Given the description of an element on the screen output the (x, y) to click on. 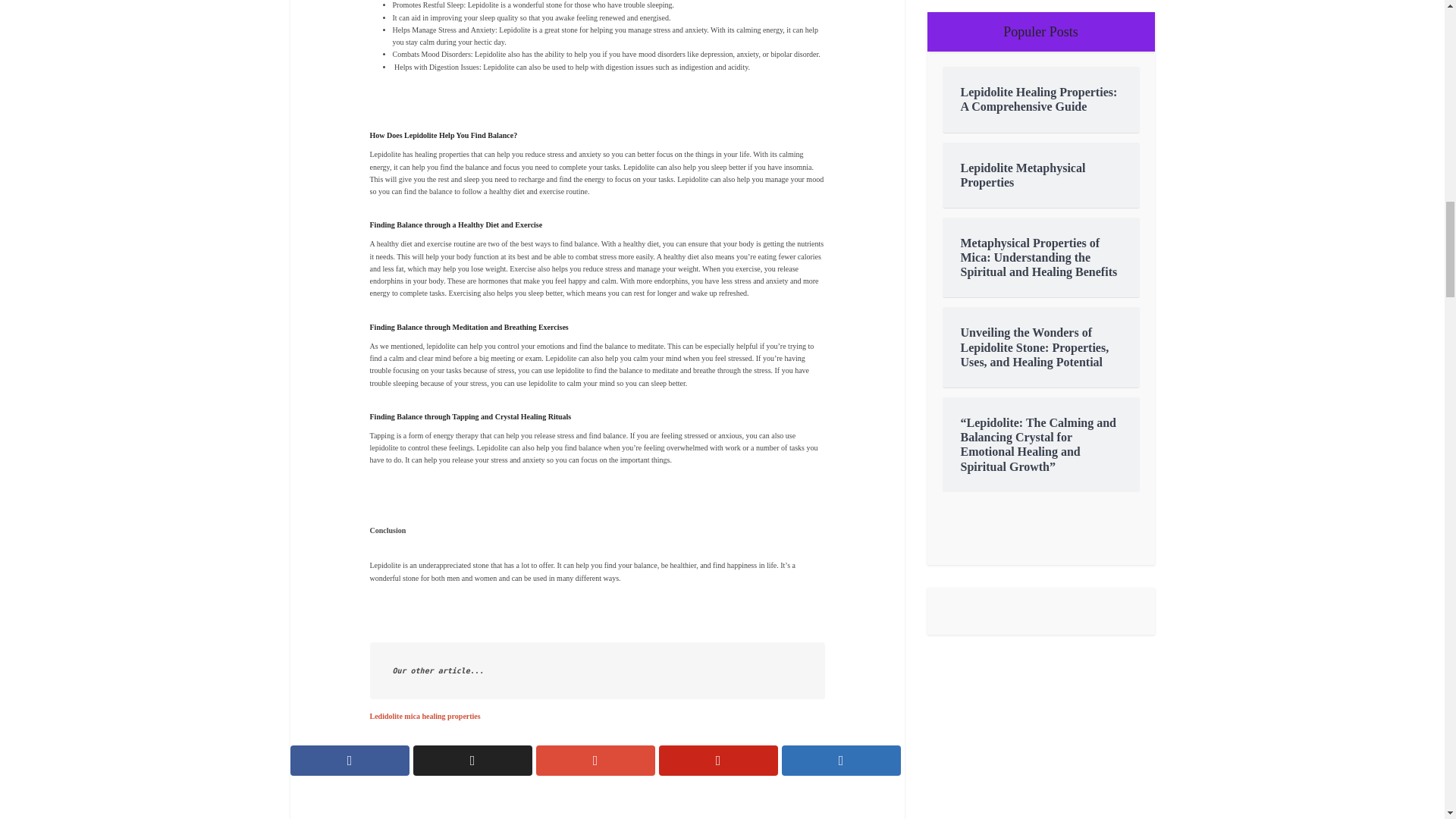
Ledidolite mica healing properties (424, 715)
